Given the description of an element on the screen output the (x, y) to click on. 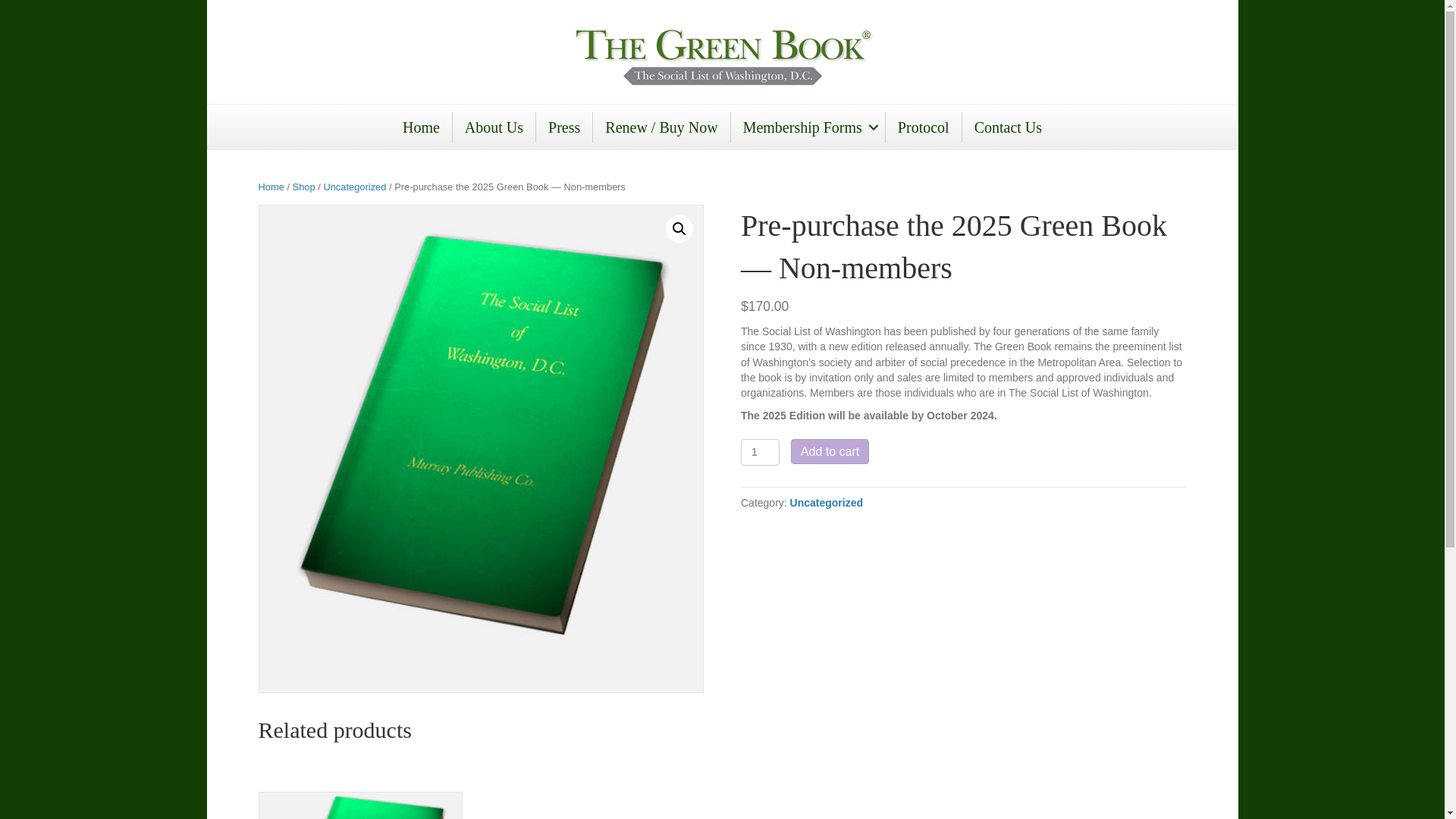
Shop (303, 186)
Press (563, 127)
Uncategorized (826, 502)
Green-Book-Logo (721, 57)
Add to cart (829, 451)
Membership Forms (807, 127)
About Us (493, 127)
1 (759, 452)
Contact Us (1008, 127)
Uncategorized (354, 186)
Home (420, 127)
Home (270, 186)
Protocol (922, 127)
